Given the description of an element on the screen output the (x, y) to click on. 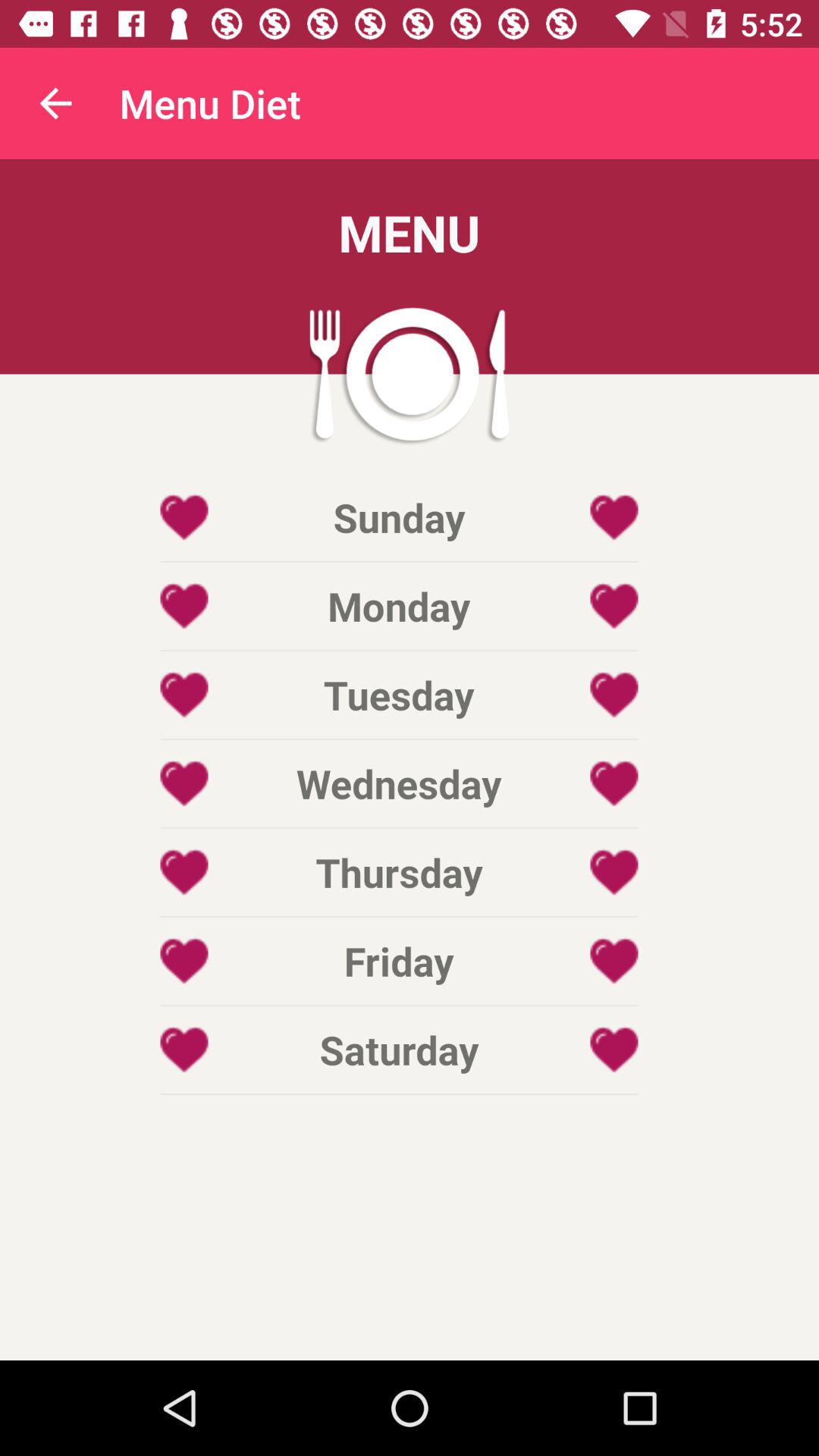
turn on the icon above tuesday (398, 605)
